Given the description of an element on the screen output the (x, y) to click on. 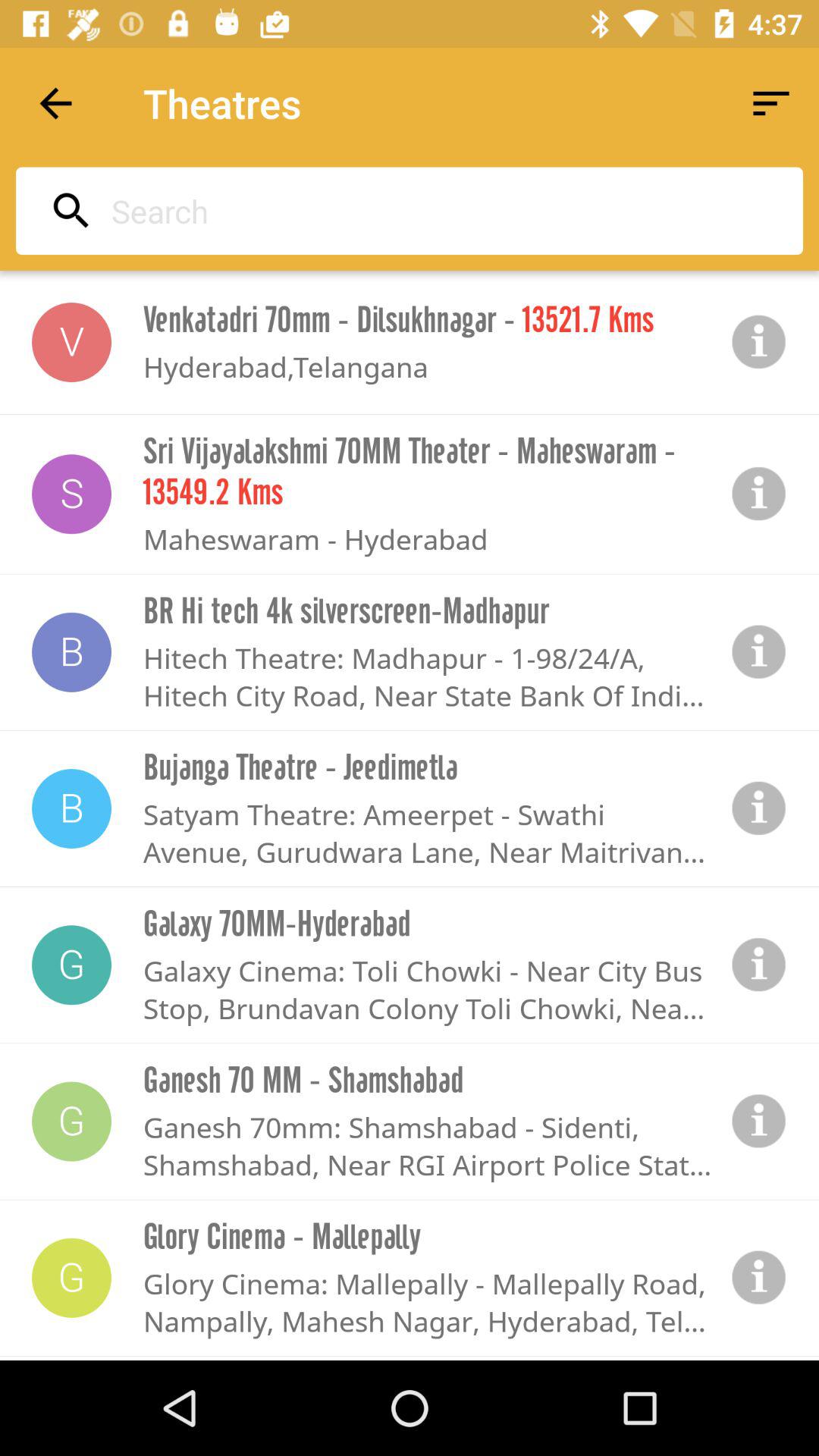
more information on bujanga theatre (759, 808)
